Given the description of an element on the screen output the (x, y) to click on. 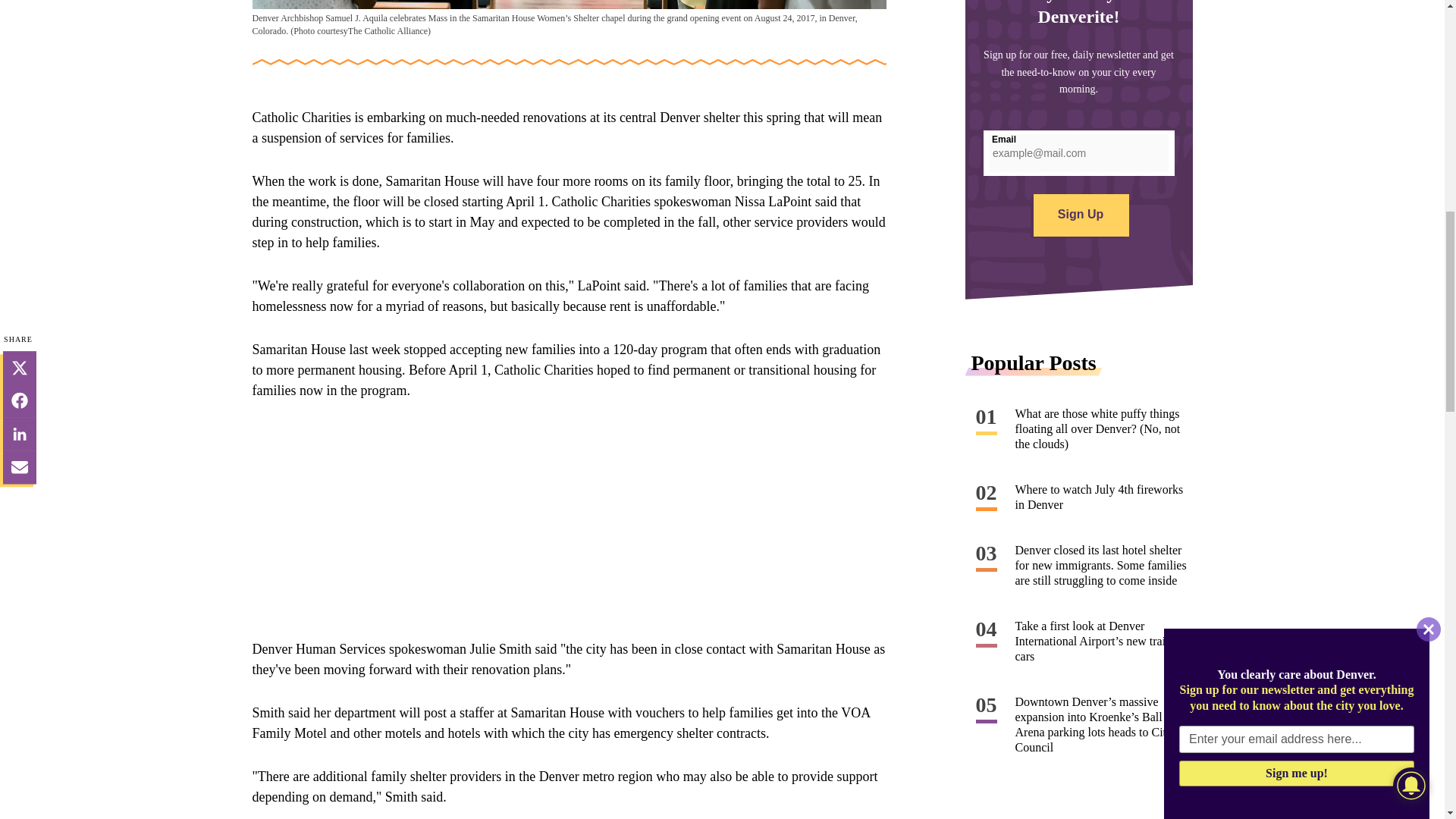
Where to watch July 4th fireworks in Denver (1103, 497)
3rd party ad content (568, 520)
Start your day with Denverite! (1077, 180)
